Given the description of an element on the screen output the (x, y) to click on. 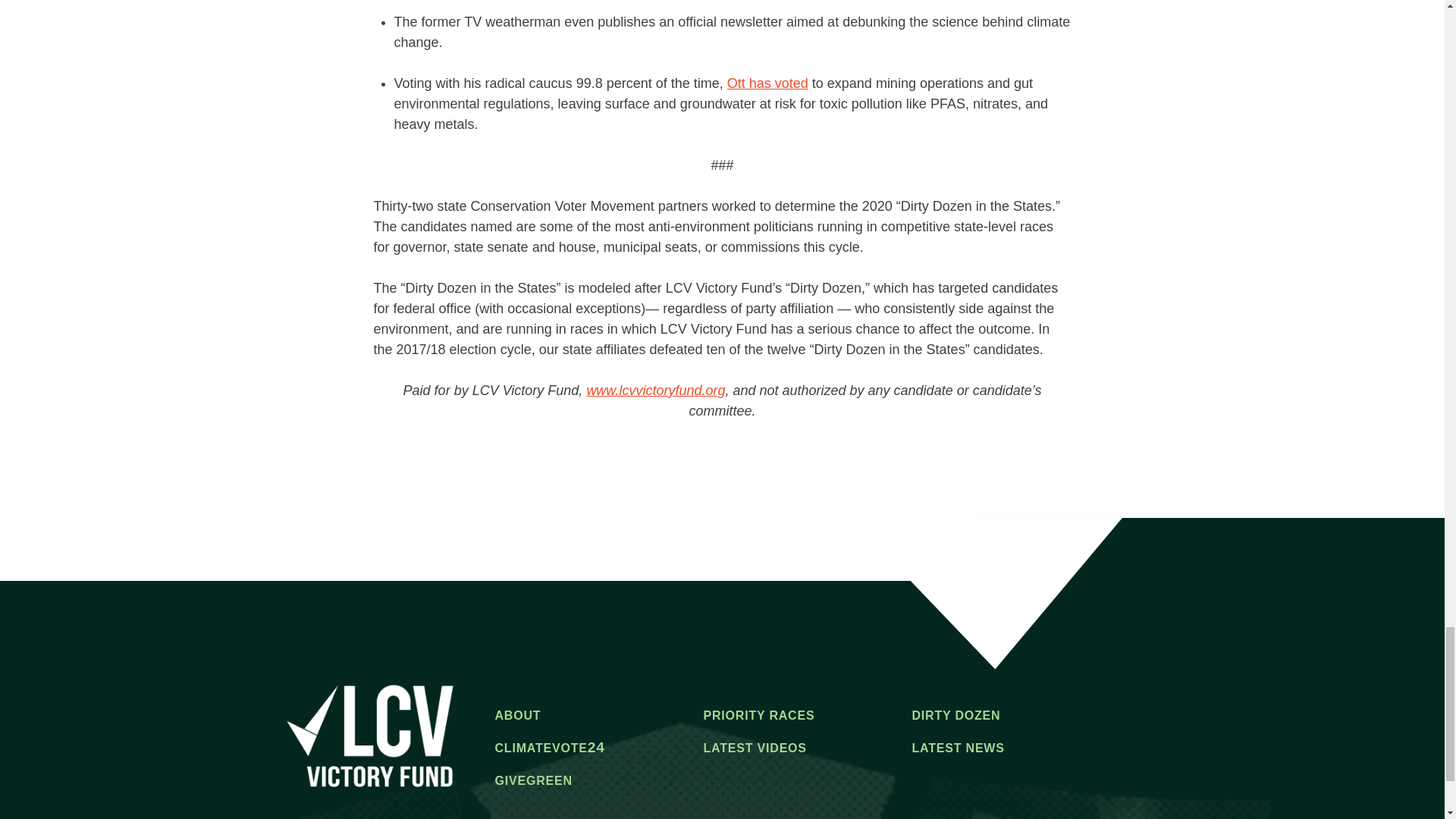
PRIORITY RACES (758, 717)
Ott has voted (767, 83)
www.lcvvictoryfund.org (655, 390)
DIRTY DOZEN (955, 717)
ABOUT (517, 717)
